Given the description of an element on the screen output the (x, y) to click on. 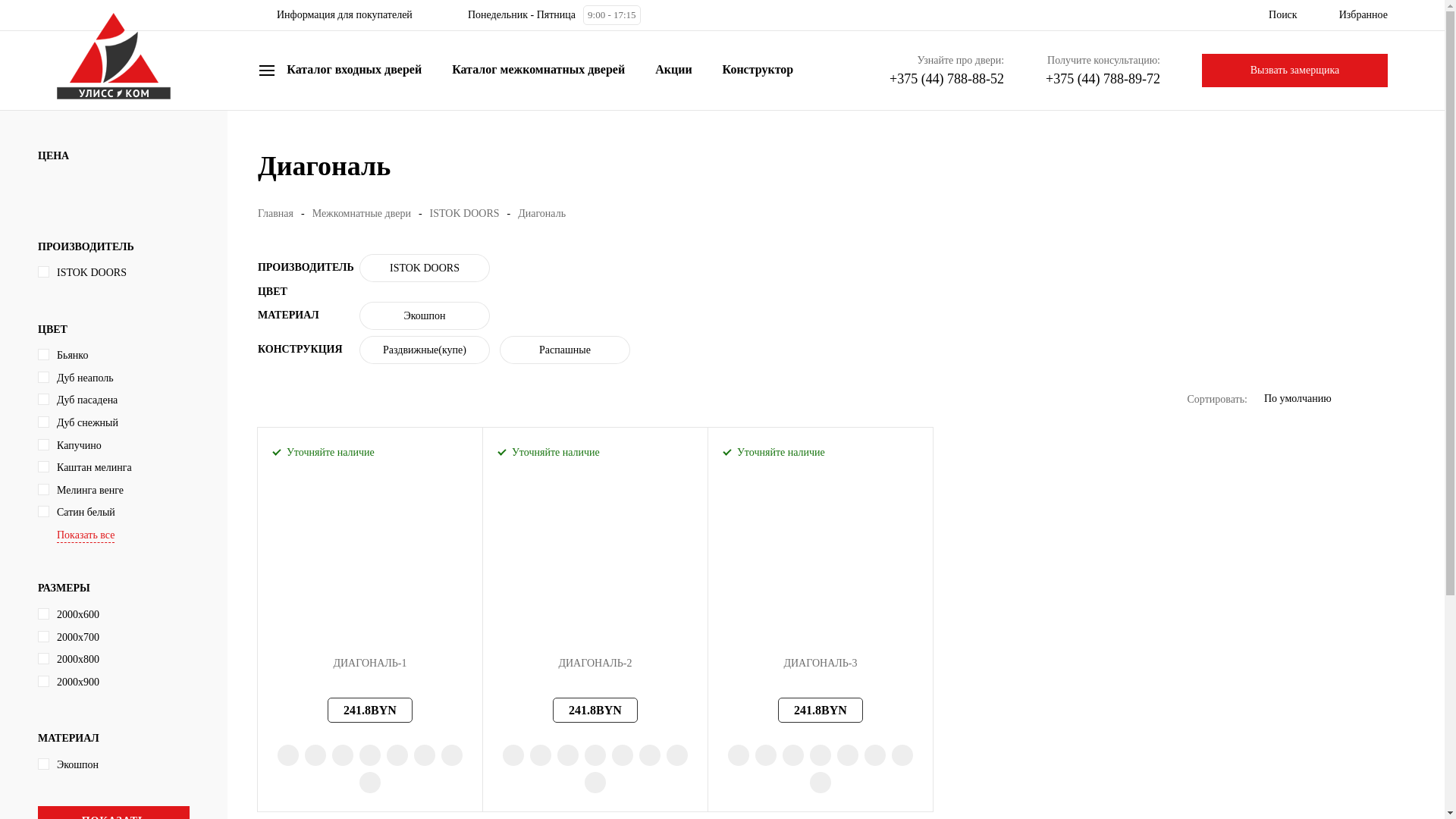
+375 (44) 788-89-72 Element type: text (1102, 78)
ISTOK DOORS Element type: text (464, 213)
+375 (44) 788-88-52 Element type: text (946, 78)
